Given the description of an element on the screen output the (x, y) to click on. 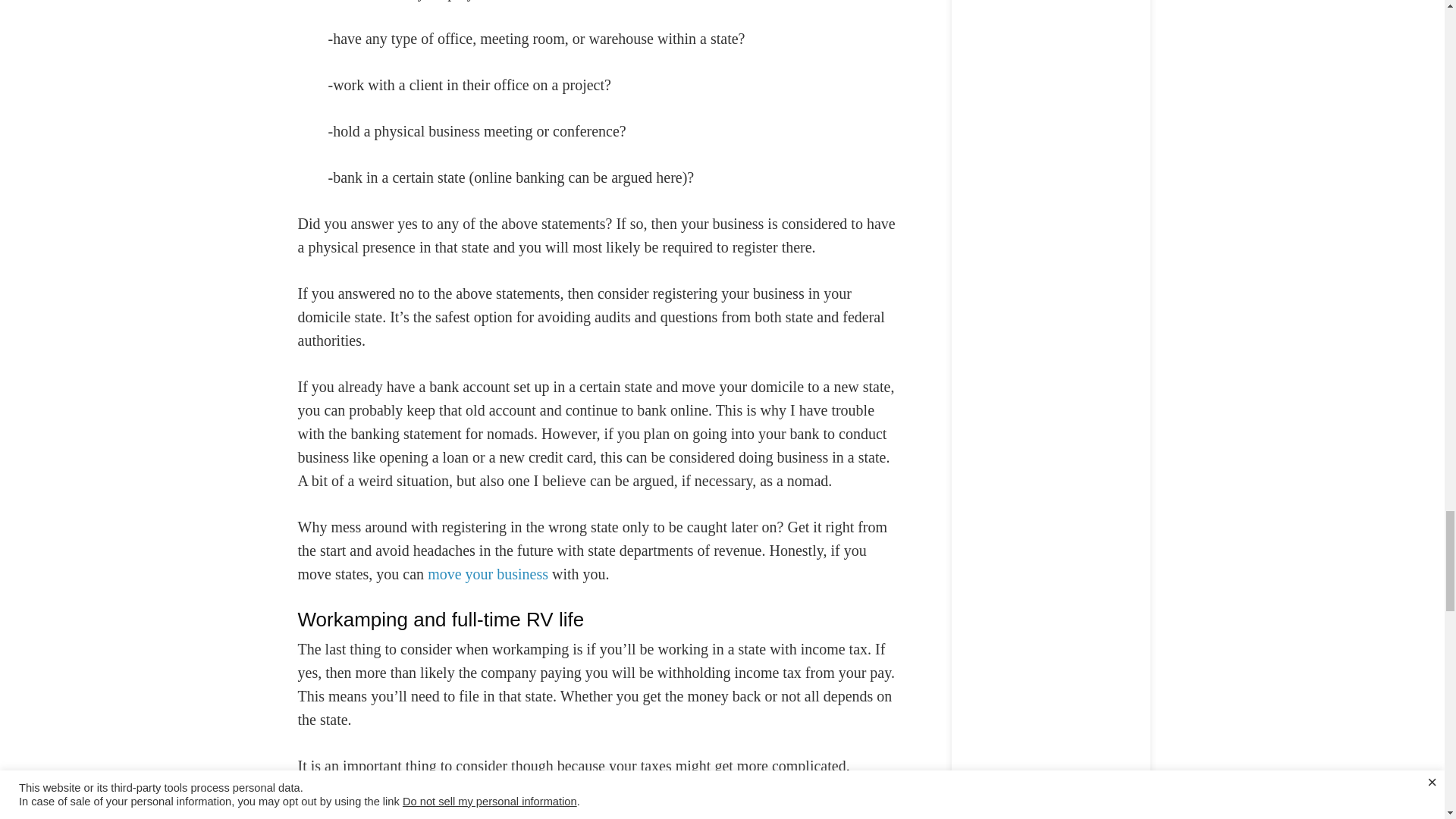
move your business (488, 574)
